Given the description of an element on the screen output the (x, y) to click on. 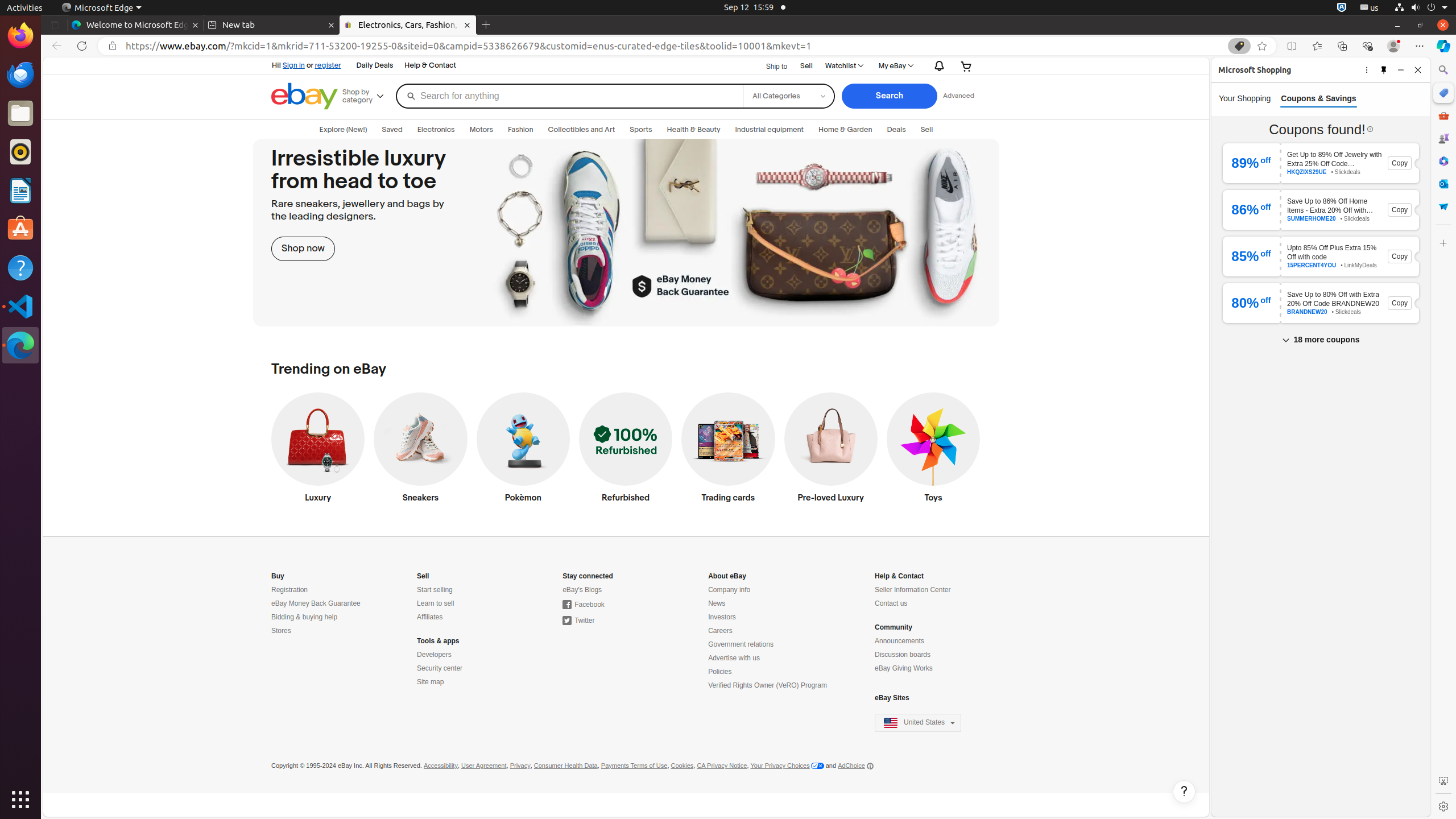
Payments Terms of Use Element type: link (633, 765)
All Categories Element type: menu-item (787, 87)
Microsoft 365 Element type: push-button (1443, 160)
New tab Element type: page-tab (271, 25)
Learn to sell Element type: link (435, 603)
